Given the description of an element on the screen output the (x, y) to click on. 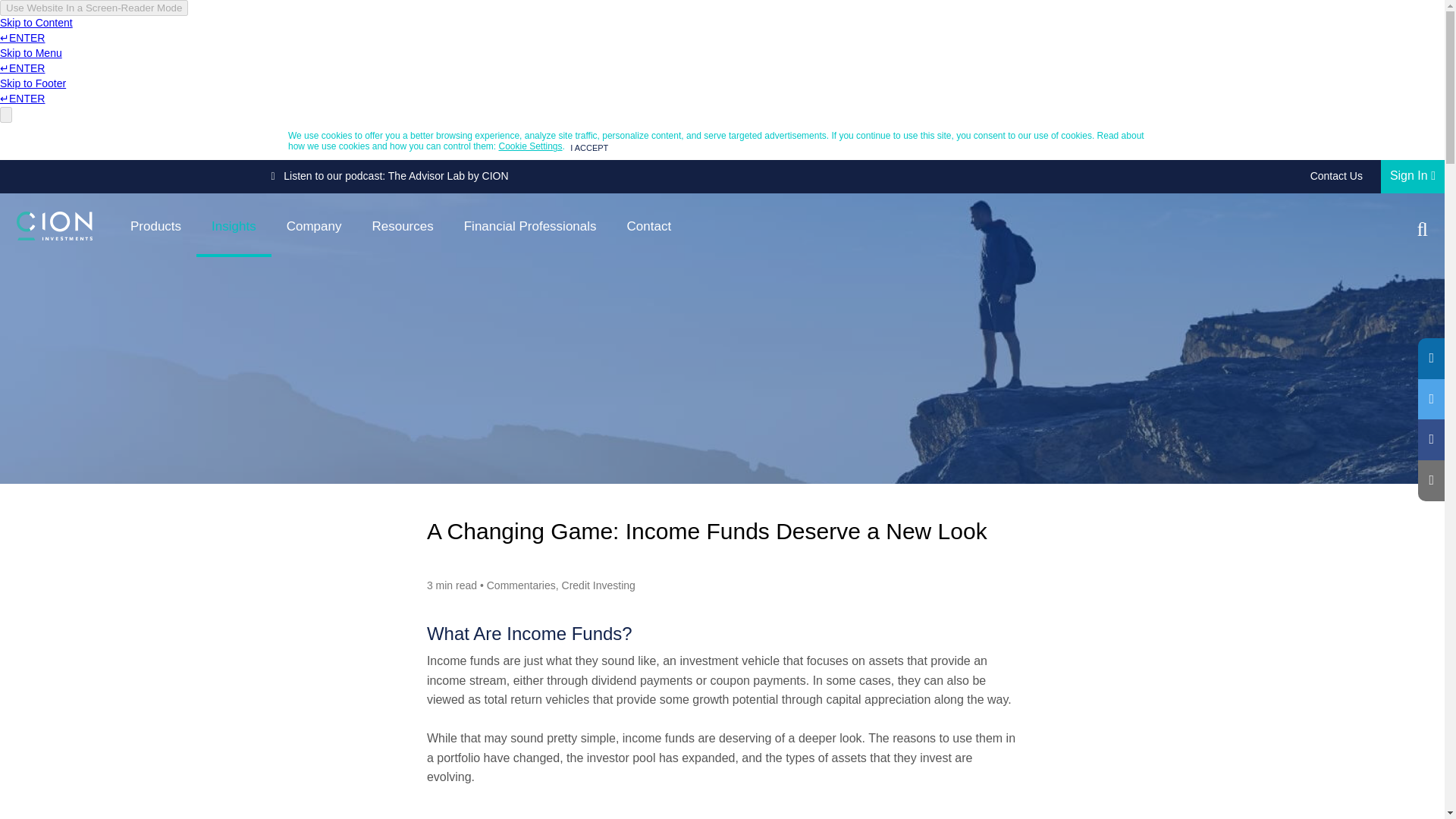
Financial Professionals (529, 229)
Company (313, 229)
Page 1 (721, 757)
Home (54, 225)
Cookie Settings (530, 145)
Insights (233, 229)
Contact Us (1336, 176)
Contact (649, 229)
Products (155, 229)
   Listen to our podcast: The Advisor Lab by CION (389, 175)
Resources (402, 229)
